Given the description of an element on the screen output the (x, y) to click on. 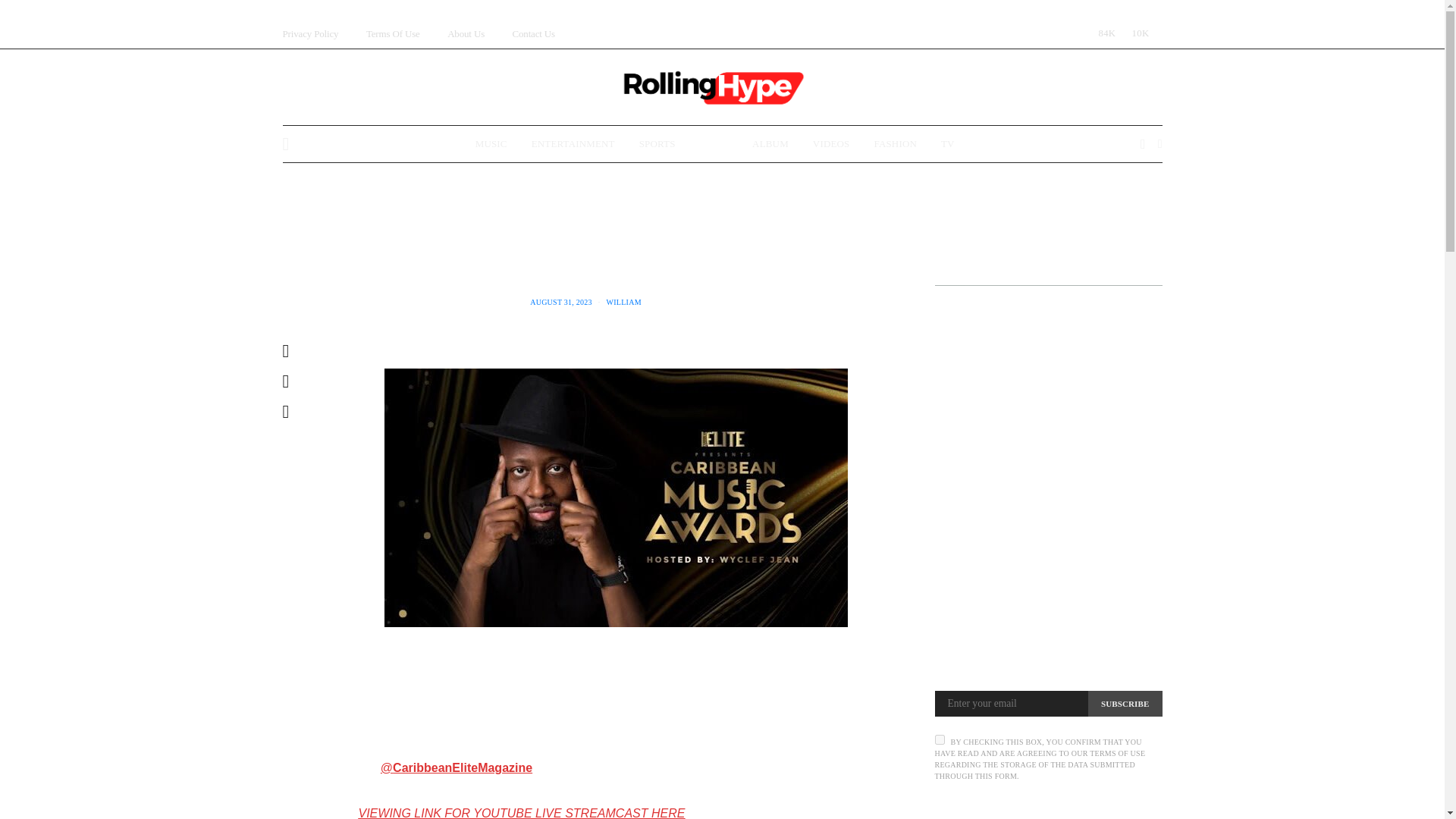
on (938, 739)
About Us (465, 33)
Privacy Policy (309, 33)
VIDEOS (831, 144)
Contact Us (533, 33)
84K (1103, 33)
ALBUM (770, 144)
10K (1137, 33)
FASHION (895, 144)
View all posts by William (624, 302)
Terms Of Use (393, 33)
ENTERTAINMENT (572, 144)
SPORTS (657, 144)
